Given the description of an element on the screen output the (x, y) to click on. 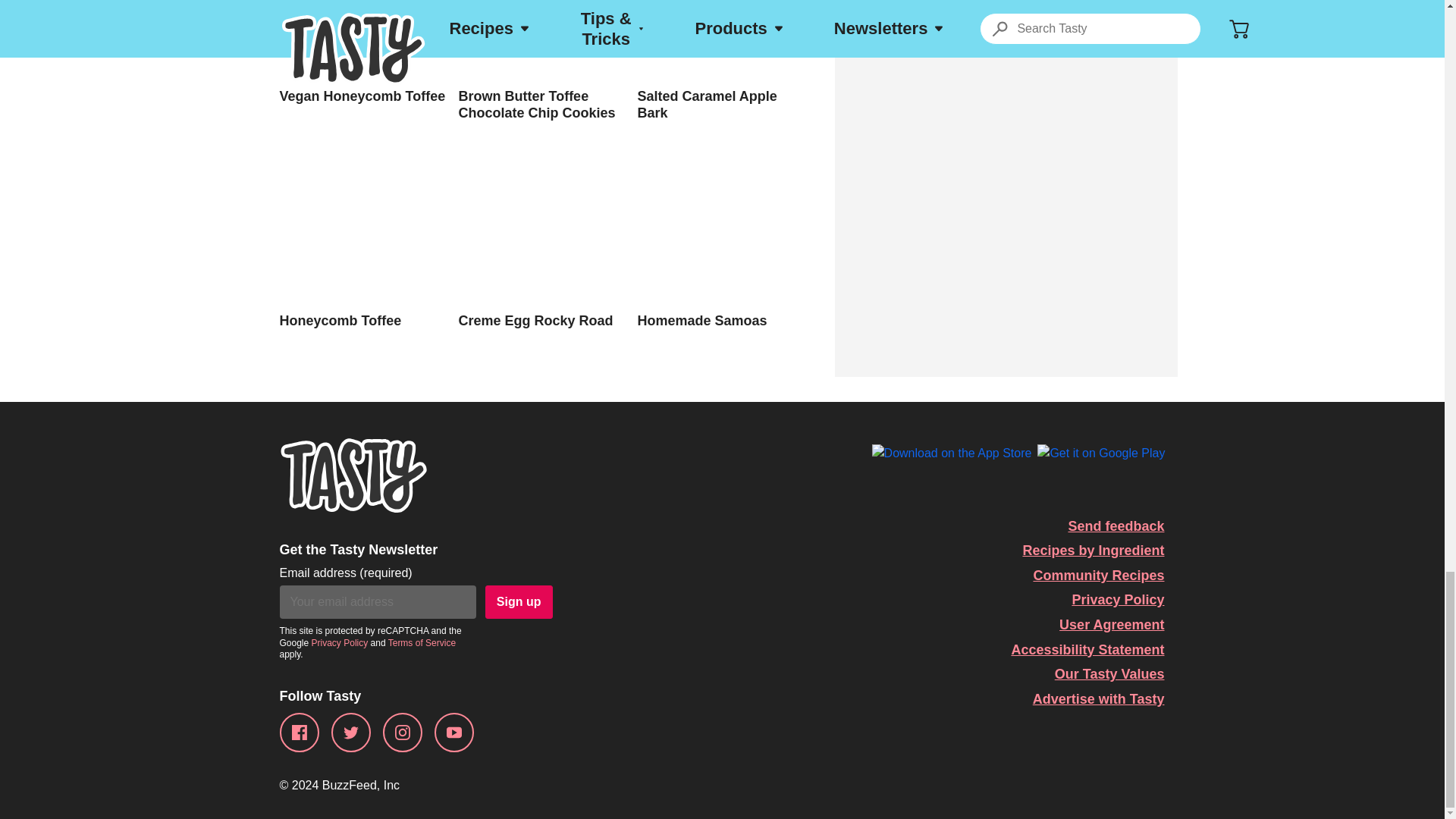
Vegan Honeycomb Toffee (362, 52)
Brown Butter Toffee Chocolate Chip Cookies (541, 60)
Tasty Logo footer (353, 475)
Salted Caramel Apple Bark (720, 60)
